Given the description of an element on the screen output the (x, y) to click on. 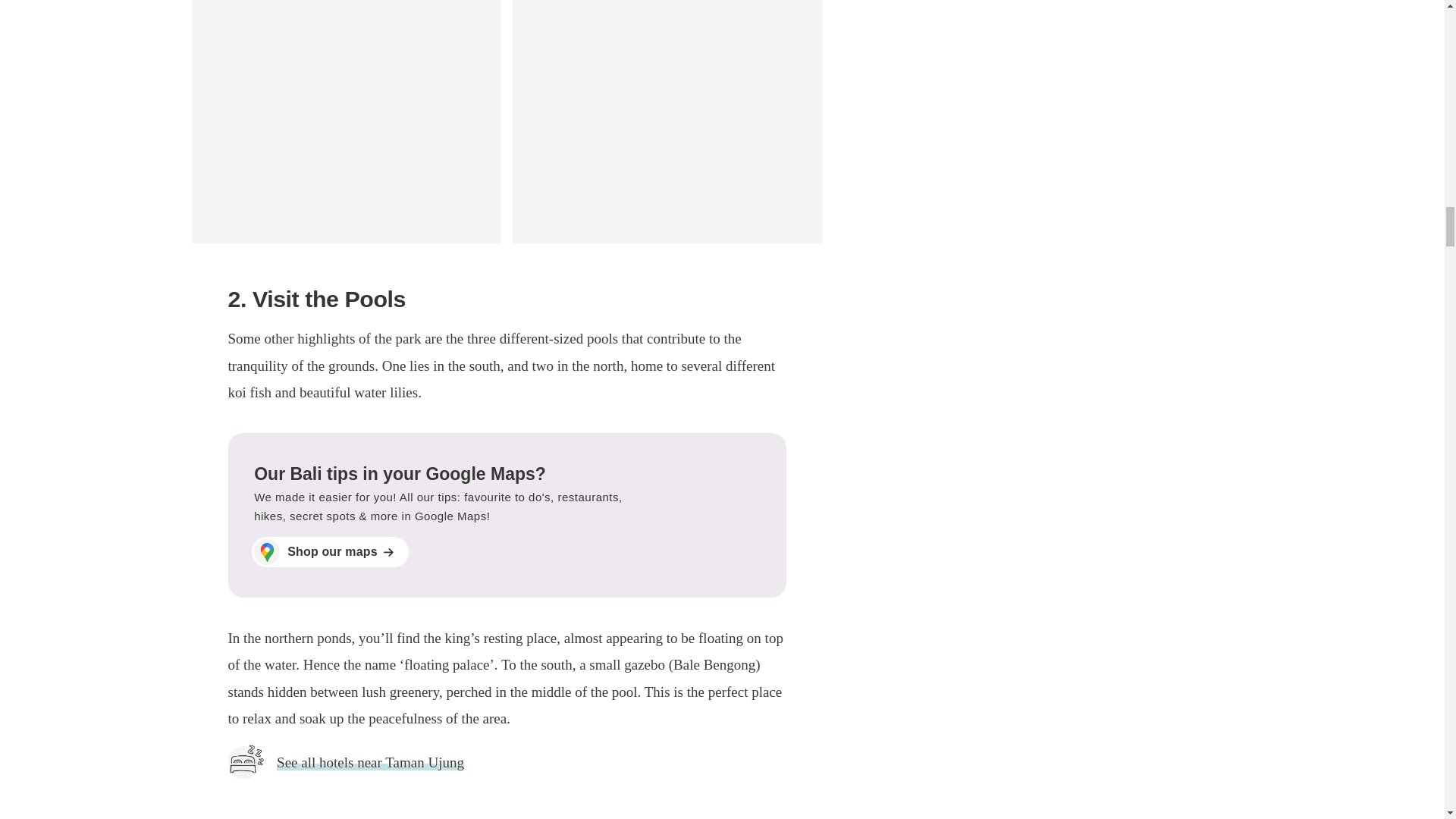
Get our Google Maps Legend (506, 515)
See all hotels near Taman Ujung (370, 762)
